Given the description of an element on the screen output the (x, y) to click on. 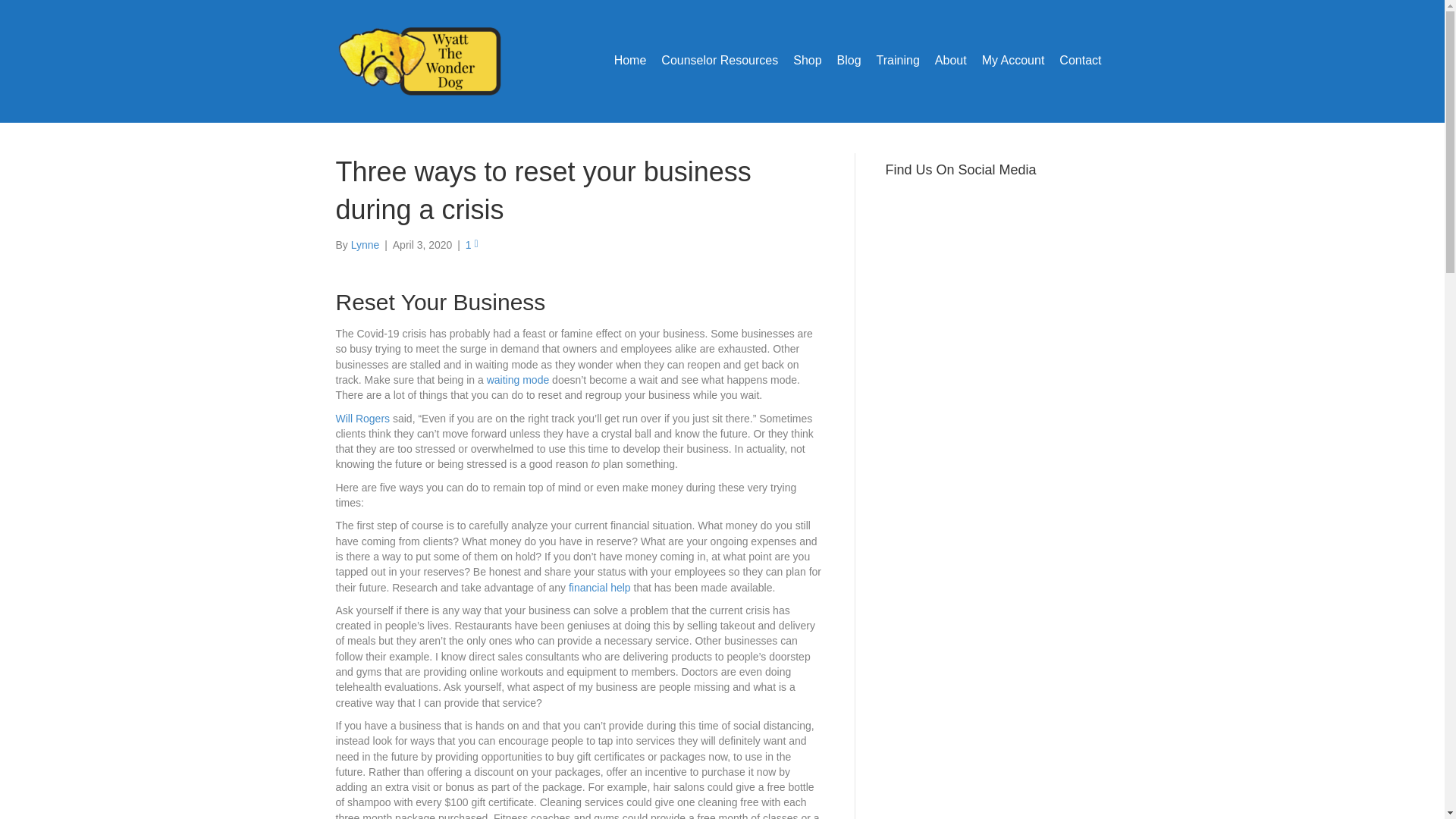
Shop (807, 60)
Lynne (365, 244)
My Account (1013, 60)
1 (472, 244)
financial help (601, 587)
Counselor Resources (719, 60)
waiting mode (515, 379)
Blog (849, 60)
Home (630, 60)
Contact (1079, 60)
Training (898, 60)
Will Rogers (362, 418)
About (950, 60)
